Given the description of an element on the screen output the (x, y) to click on. 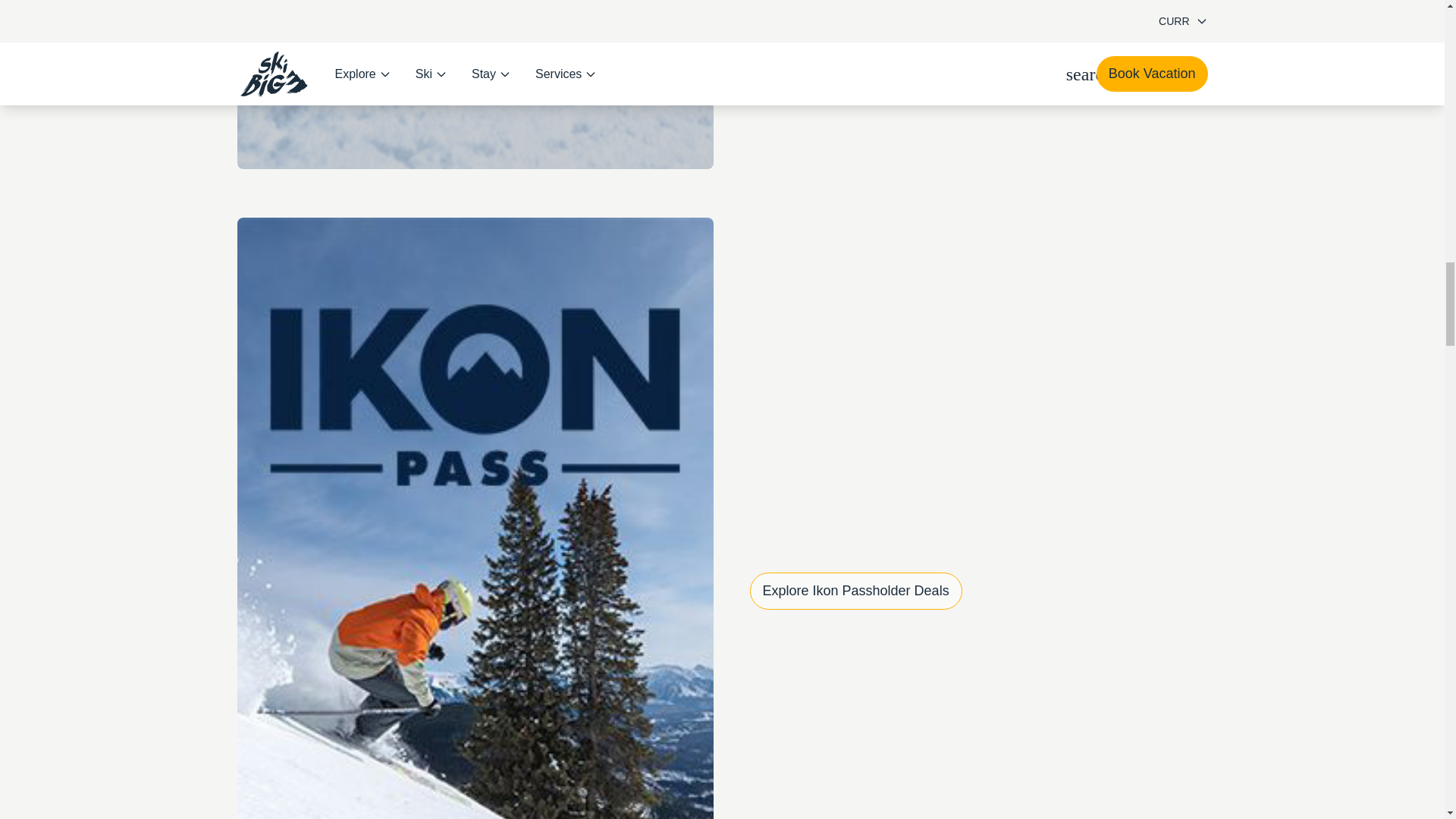
Explore Ikon Passholder Deals (854, 590)
Lift Ticket Flash Sale (474, 84)
Explore Ikon Passholder Deals (854, 590)
